Given the description of an element on the screen output the (x, y) to click on. 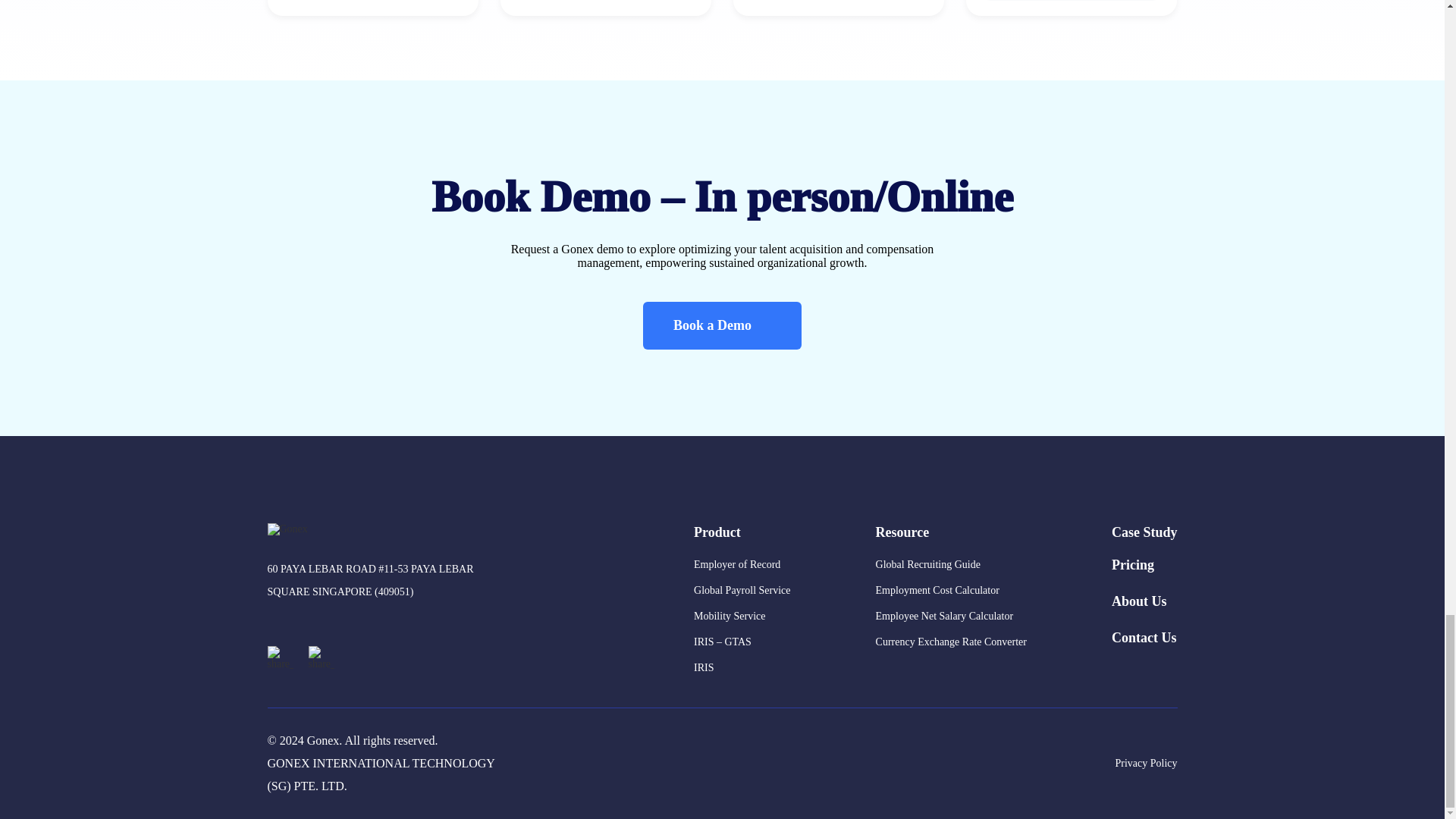
Employee Net Salary Calculator (951, 616)
Global Recruiting Guide (951, 564)
IRIS (742, 667)
Employer of Record (742, 564)
Employment Cost Calculator (951, 590)
Resource (951, 532)
Global Payroll Service (742, 590)
Mobility Service (742, 616)
Product (742, 532)
Book a Demo (722, 325)
